Given the description of an element on the screen output the (x, y) to click on. 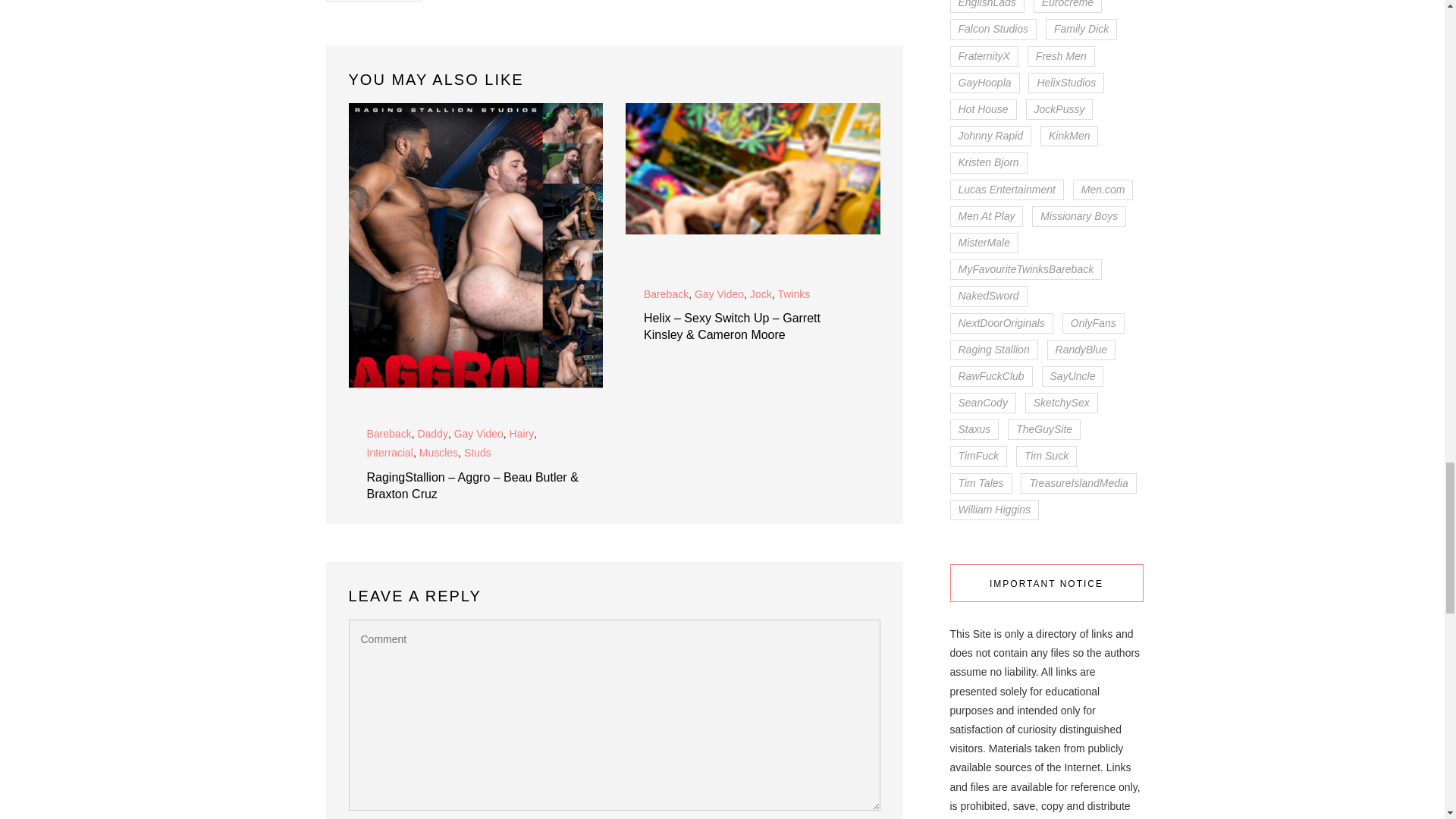
Bareback (389, 434)
Interracial (389, 452)
Daddy (431, 434)
Hairy (521, 434)
Gay Video (719, 294)
Twinks (793, 294)
Studs (478, 452)
Jock (760, 294)
Muscles (438, 452)
Bareback (665, 294)
